Given the description of an element on the screen output the (x, y) to click on. 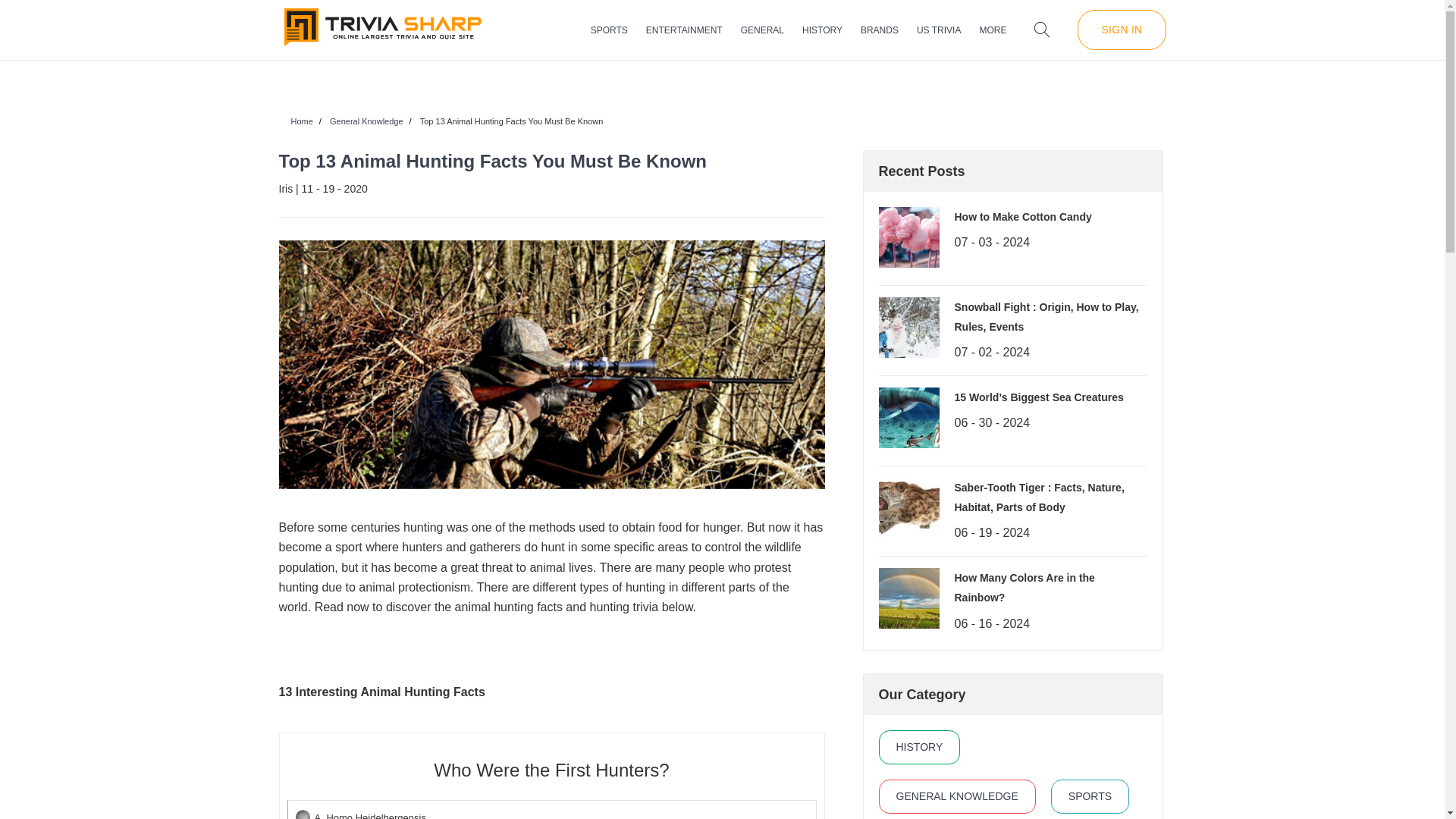
ENTERTAINMENT (684, 30)
SPORTS (609, 30)
FOOTBALL LEAGUE (666, 80)
INVENTIONS (877, 80)
HISTORY (822, 30)
BRANDS (879, 30)
US TRIVIA (938, 30)
FASHION (721, 80)
GENERAL (762, 30)
TECHNOLOGY (816, 80)
